Given the description of an element on the screen output the (x, y) to click on. 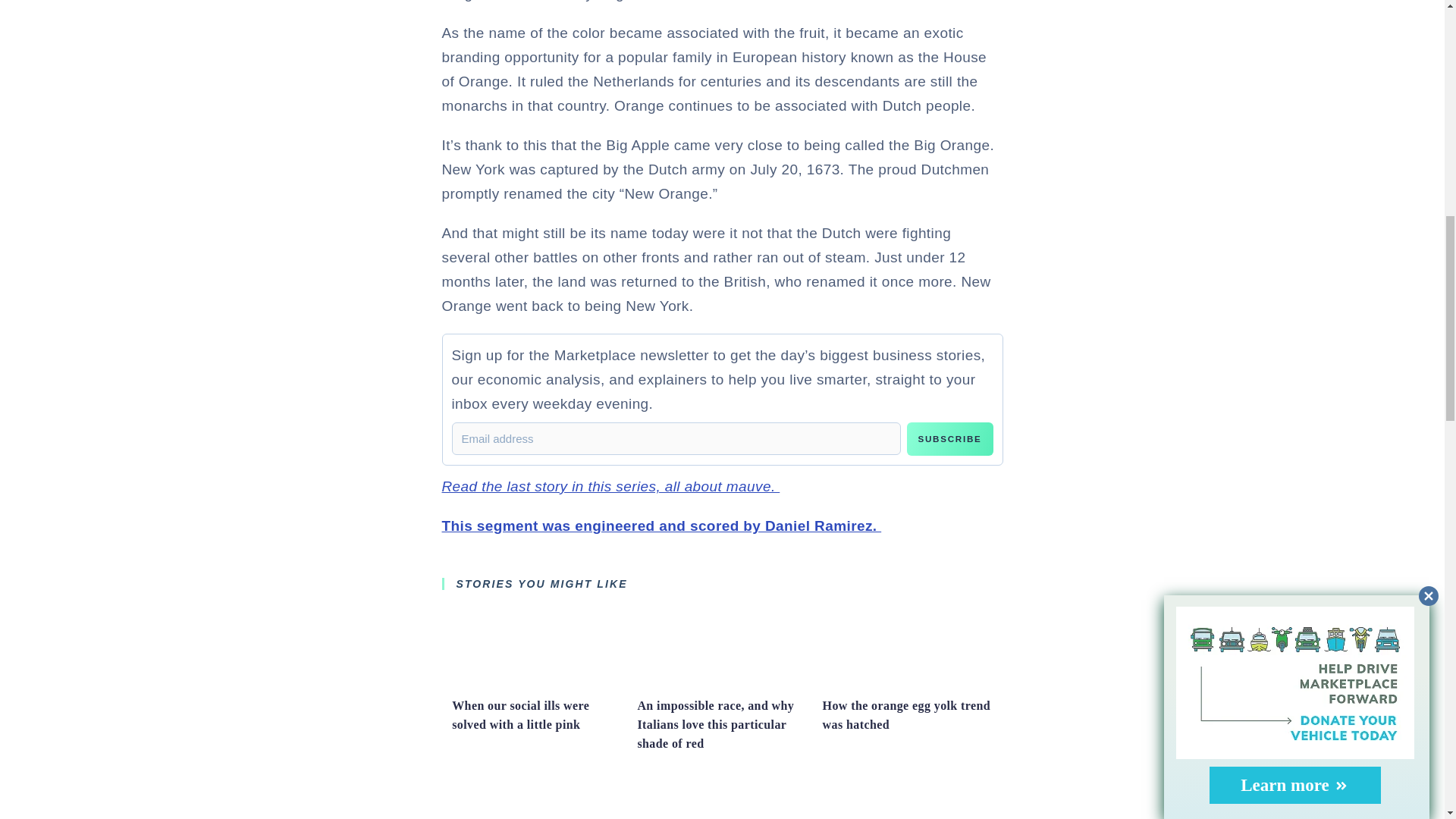
When our social ills were solved with a little pink (536, 683)
When our social ills were solved with a little pink (520, 715)
